Given the description of an element on the screen output the (x, y) to click on. 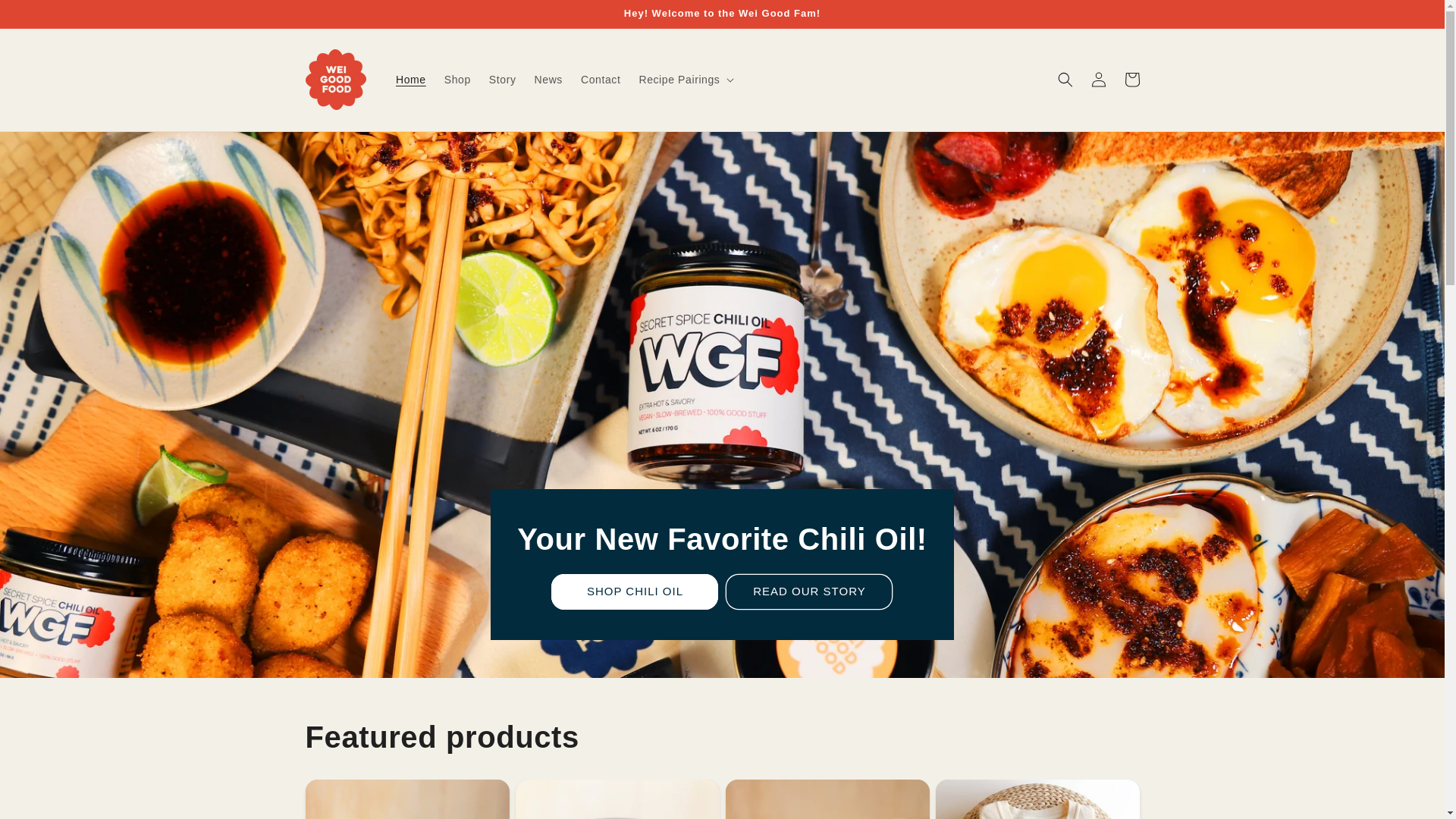
Log in (1098, 79)
Story (502, 79)
Home (411, 79)
Skip to content (45, 17)
Cart (1131, 79)
READ OUR STORY (808, 591)
News (548, 79)
Contact (600, 79)
SHOP CHILI OIL (634, 591)
Shop (457, 79)
